Given the description of an element on the screen output the (x, y) to click on. 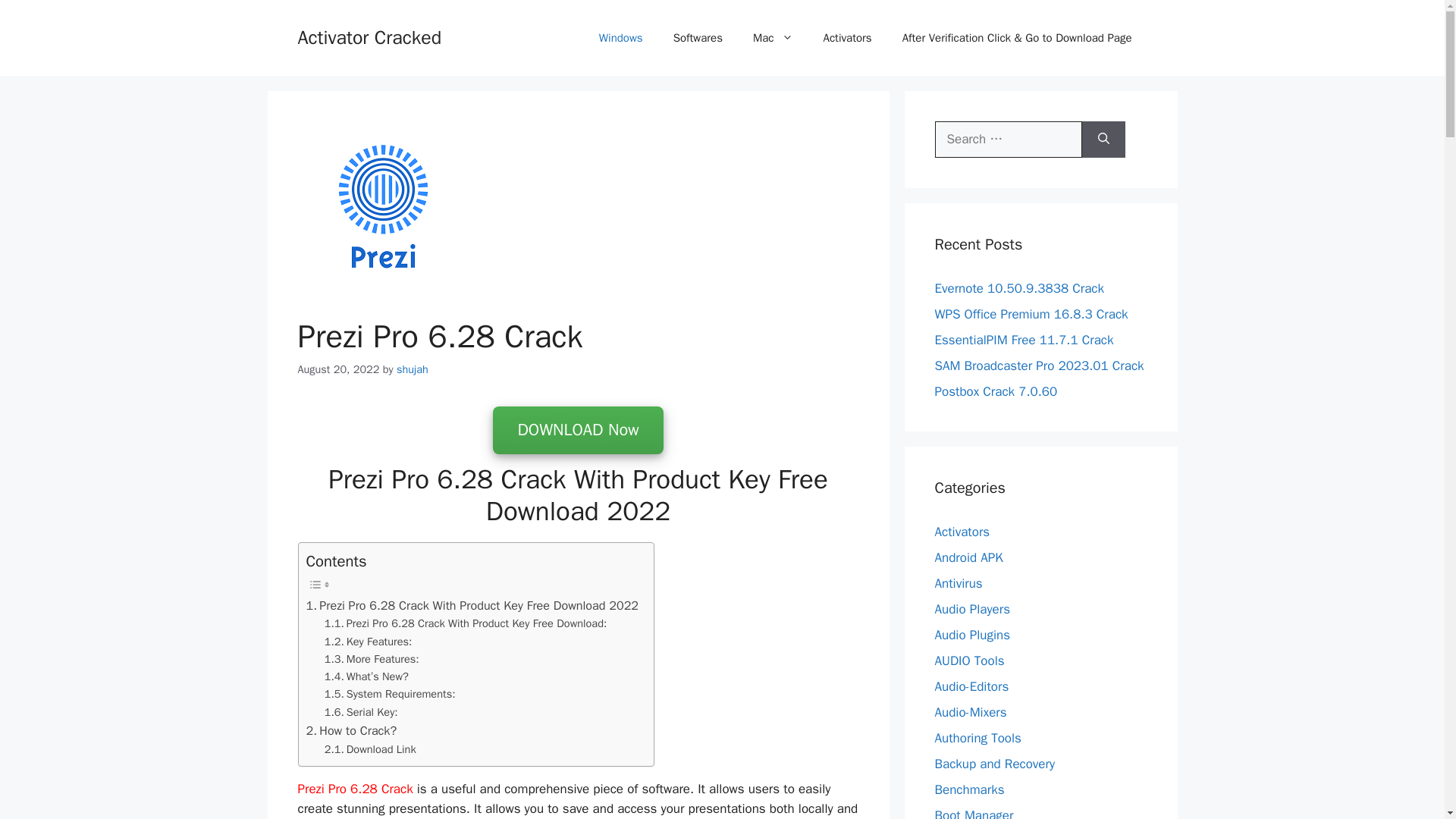
Download Link (370, 749)
Serial Key: (360, 712)
How to Crack? (351, 731)
Prezi Pro 6.28 Crack  (356, 788)
Activators (847, 37)
Prezi Pro 6.28 Crack With Product Key Free Download: (465, 623)
Activator Cracked (369, 37)
DOWNLOAD Now (577, 430)
View all posts by shujah (412, 368)
Download Link (370, 749)
